Given the description of an element on the screen output the (x, y) to click on. 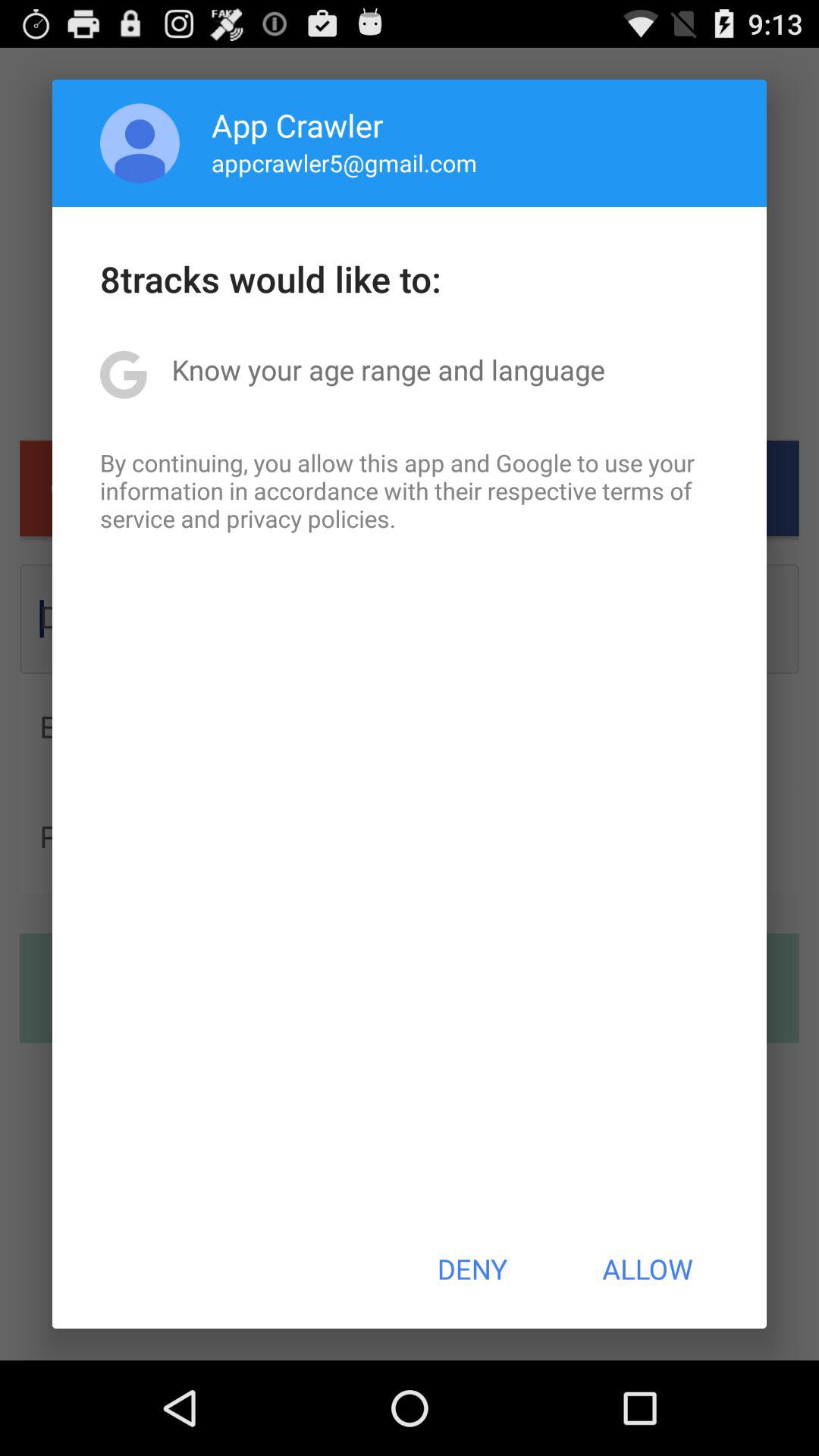
choose the app above the appcrawler5@gmail.com (297, 124)
